Given the description of an element on the screen output the (x, y) to click on. 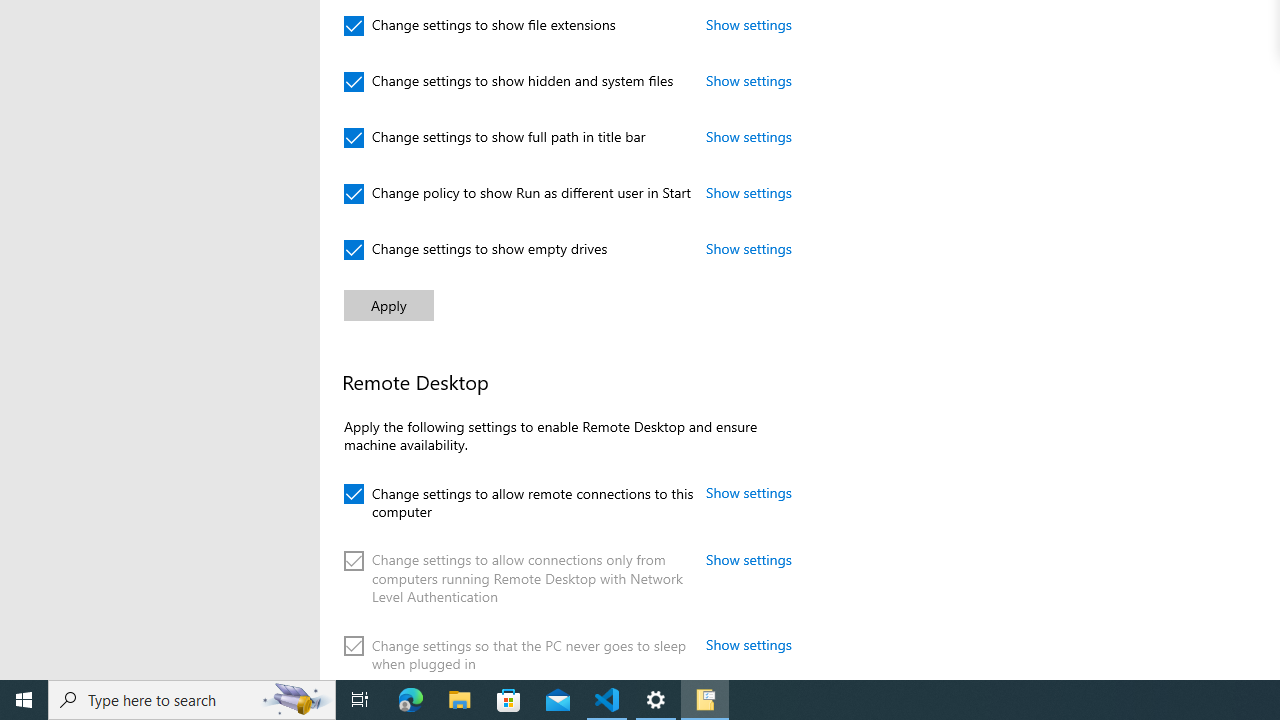
File Explorer (460, 699)
Visual Studio Code - 1 running window (607, 699)
Task View (359, 699)
Microsoft Edge (411, 699)
Type here to search (191, 699)
Settings - 1 running window (656, 699)
File Explorer Options - 1 running window (704, 699)
Search highlights icon opens search home window (295, 699)
Start (24, 699)
Microsoft Store (509, 699)
